Given the description of an element on the screen output the (x, y) to click on. 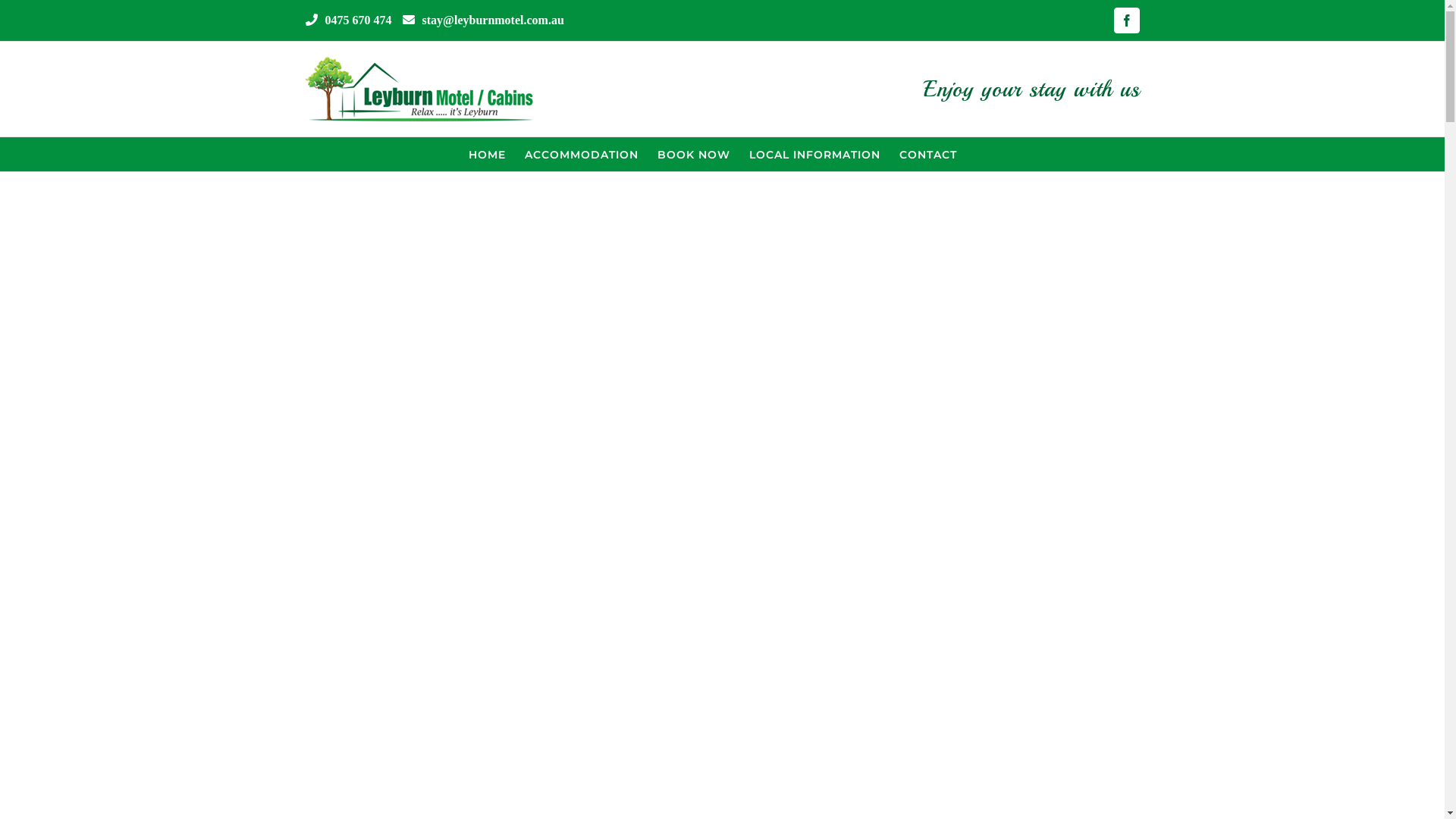
CONTACT Element type: text (928, 154)
ACCOMMODATION Element type: text (581, 154)
LOCAL INFORMATION Element type: text (814, 154)
0475 670 474 Element type: text (357, 19)
Facebook Element type: text (1126, 20)
BOOK NOW Element type: text (693, 154)
HOME Element type: text (486, 154)
stay@leyburnmotel.com.au Element type: text (492, 19)
